Given the description of an element on the screen output the (x, y) to click on. 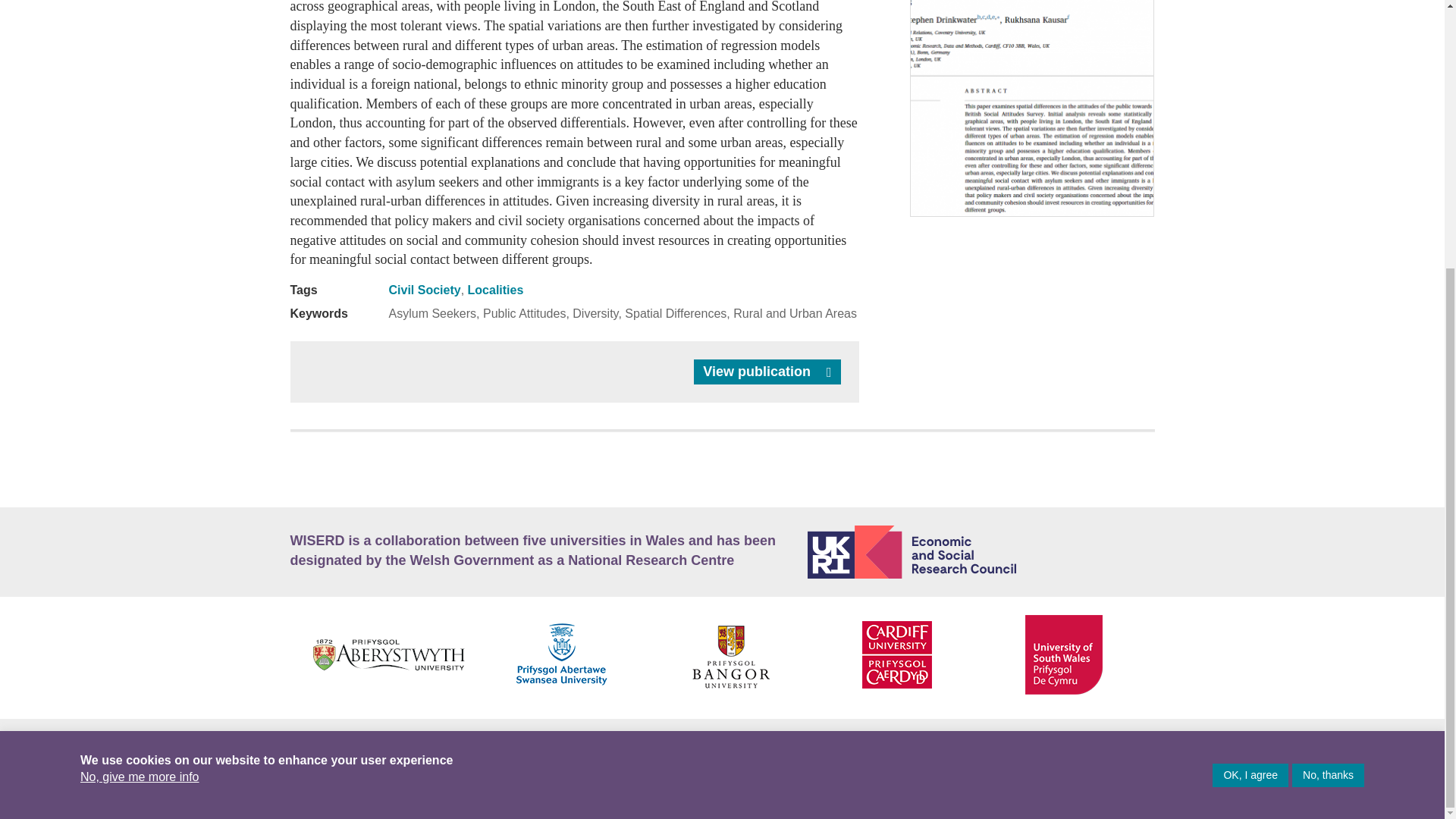
Facebook (318, 779)
Terms and Conditions (837, 744)
Localities (495, 289)
Economic and Social Research Council (981, 551)
Career Opportunities (453, 744)
ESRC (981, 551)
Twitter (948, 744)
Privacy Policy (704, 744)
Facebook (1074, 743)
Accessibility (327, 744)
Language Policy (588, 744)
View publication (767, 371)
Twitter (1108, 743)
Intranet (507, 779)
Data Portal (416, 779)
